Given the description of an element on the screen output the (x, y) to click on. 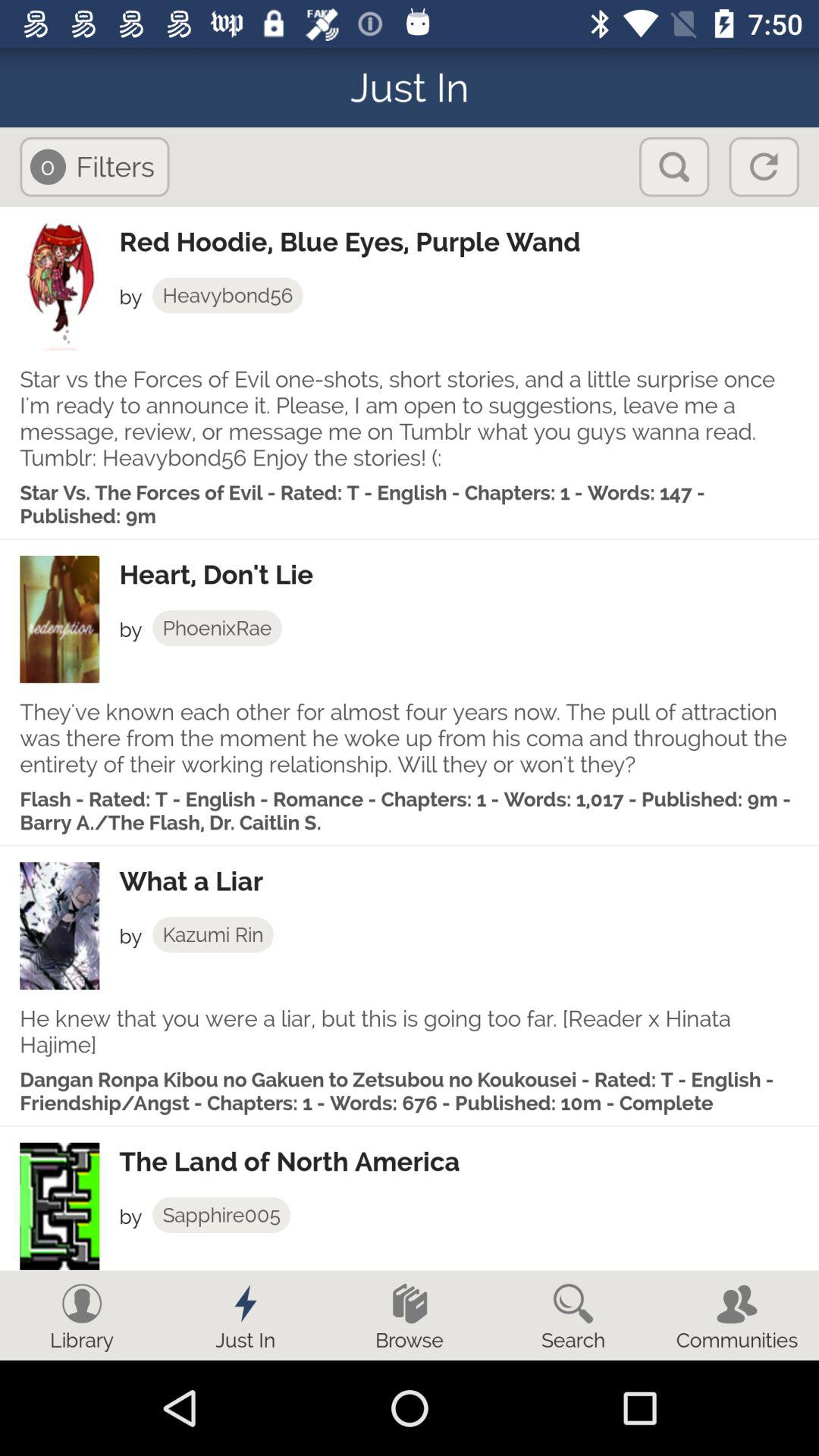
swipe until the heavybond56 icon (227, 295)
